Given the description of an element on the screen output the (x, y) to click on. 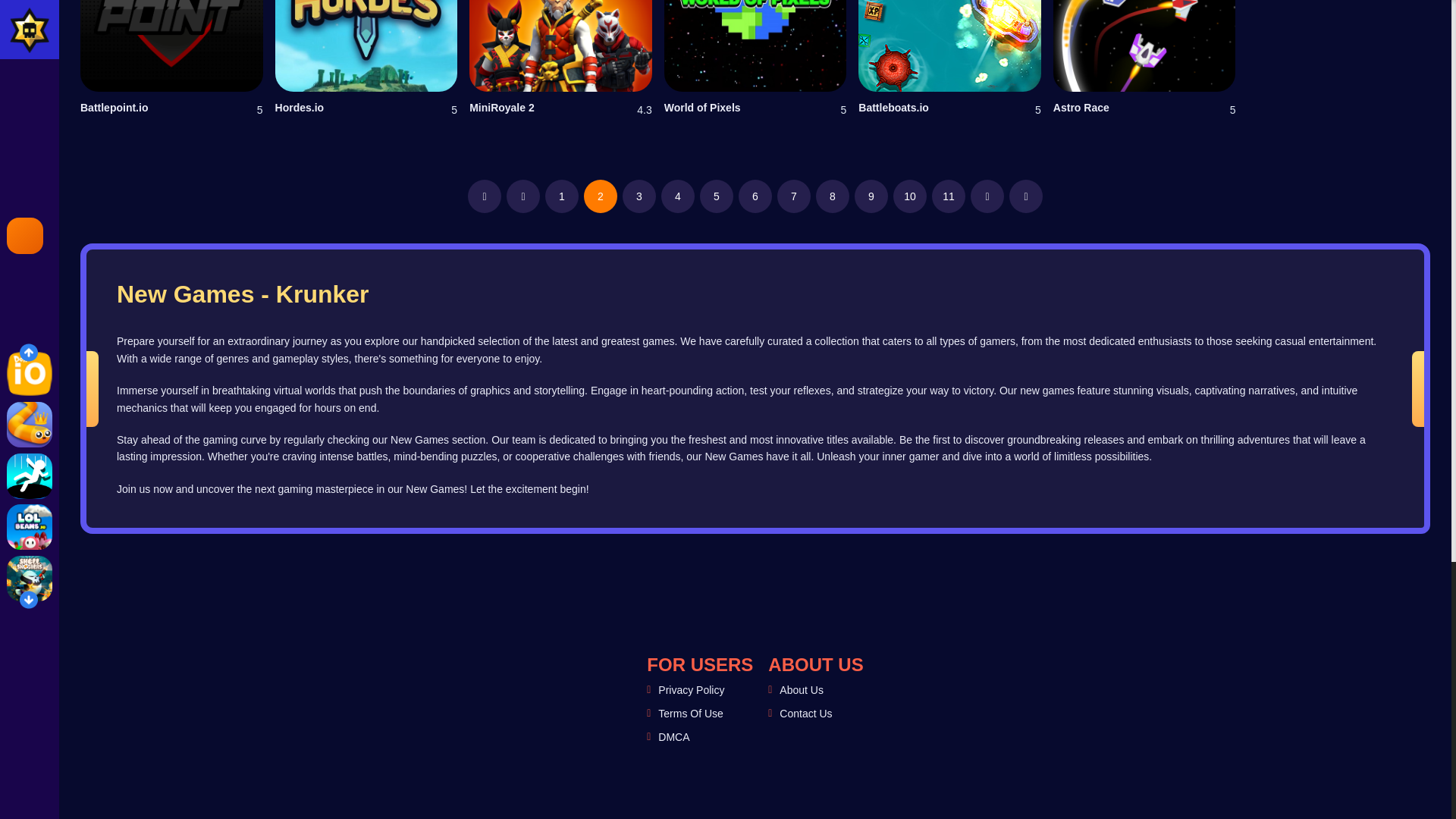
Terms of Use (690, 713)
About Us (801, 689)
Privacy Policy (690, 689)
DMCA (673, 736)
Contact (804, 713)
